Given the description of an element on the screen output the (x, y) to click on. 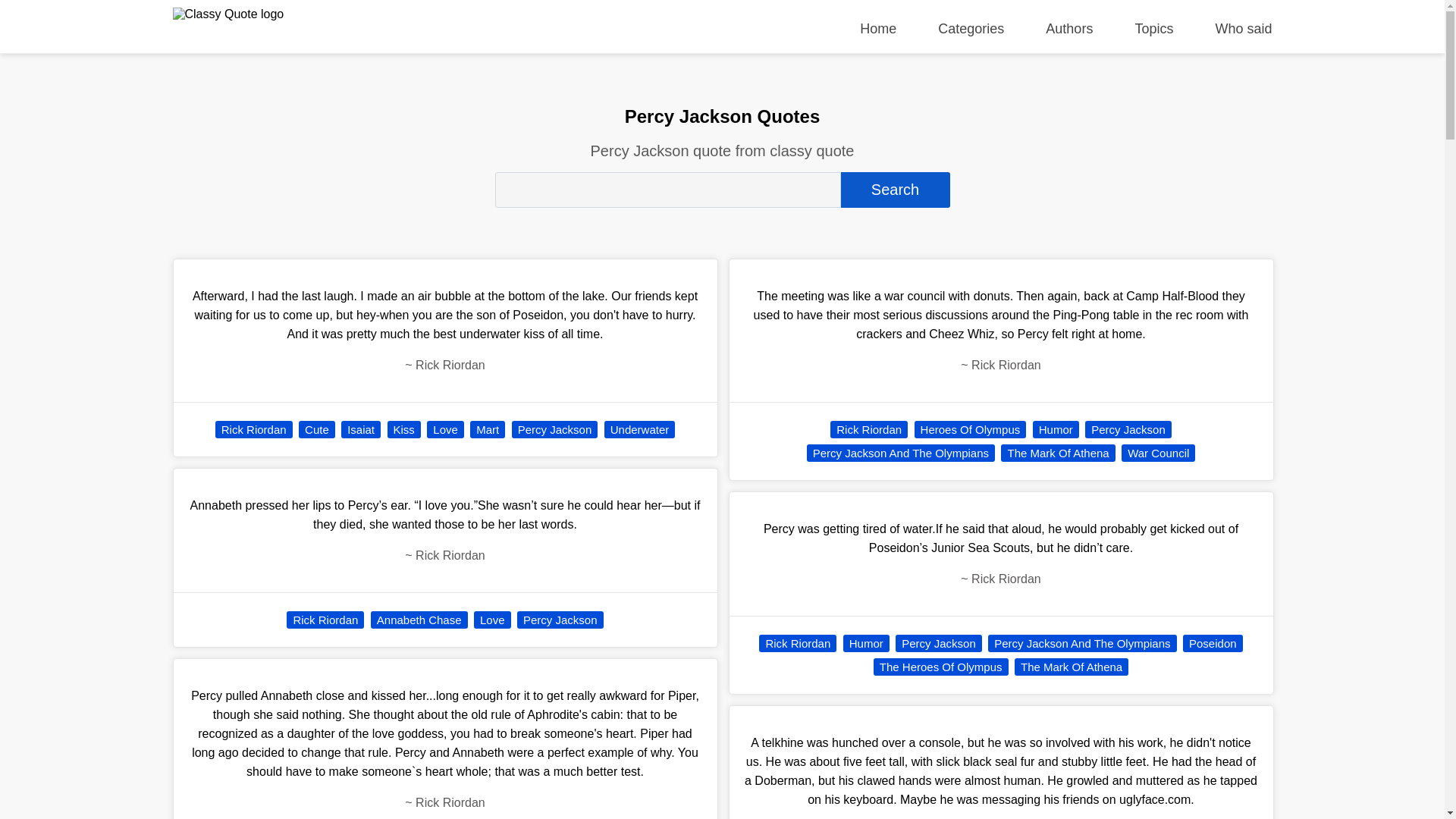
Who said (1242, 28)
Annabeth Chase (419, 619)
Search (894, 189)
Underwater (639, 429)
Home (878, 28)
Cute (316, 429)
Mart (487, 429)
Kiss (403, 429)
Love (492, 619)
Percy Jackson (555, 429)
Authors (1069, 28)
Percy Jackson (560, 619)
Isaiat (360, 429)
Search (894, 189)
Rick Riordan (253, 429)
